Given the description of an element on the screen output the (x, y) to click on. 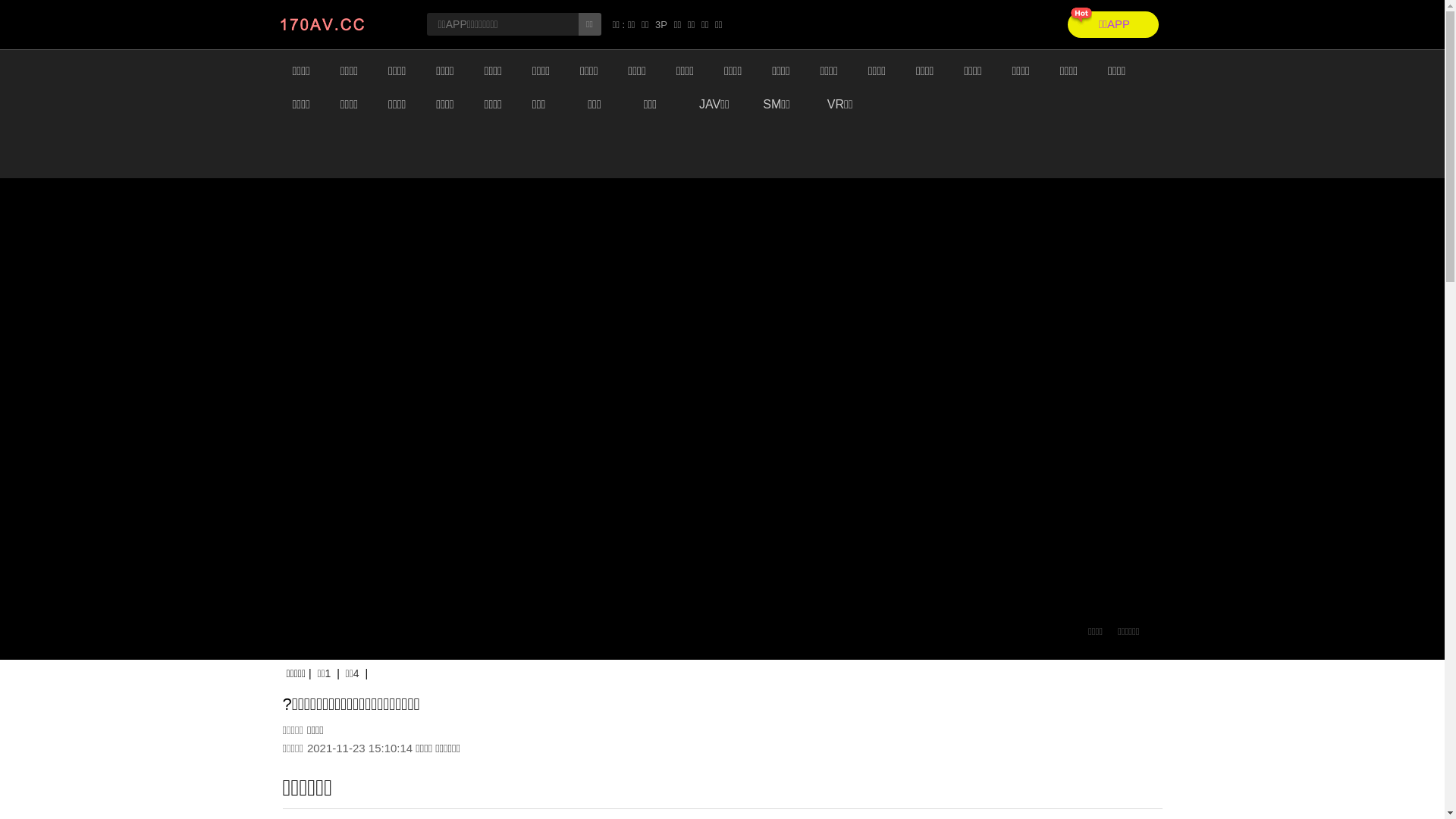
3P Element type: text (661, 24)
static/images/logo.jpg Element type: text (340, 24)
